Given the description of an element on the screen output the (x, y) to click on. 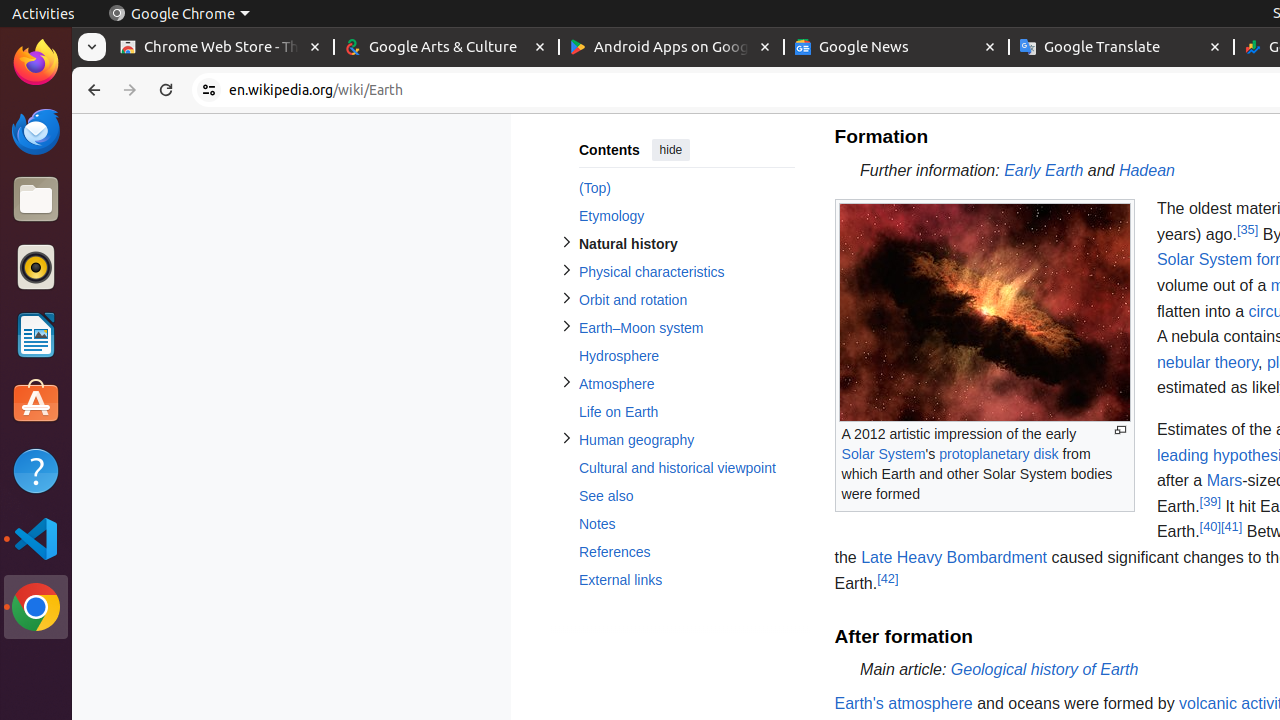
To get missing image descriptions, open the context menu. Element type: link (984, 313)
nebular theory Element type: link (1207, 361)
Physical characteristics Element type: link (686, 272)
[35] Element type: link (1247, 229)
[41] Element type: link (1231, 527)
